Given the description of an element on the screen output the (x, y) to click on. 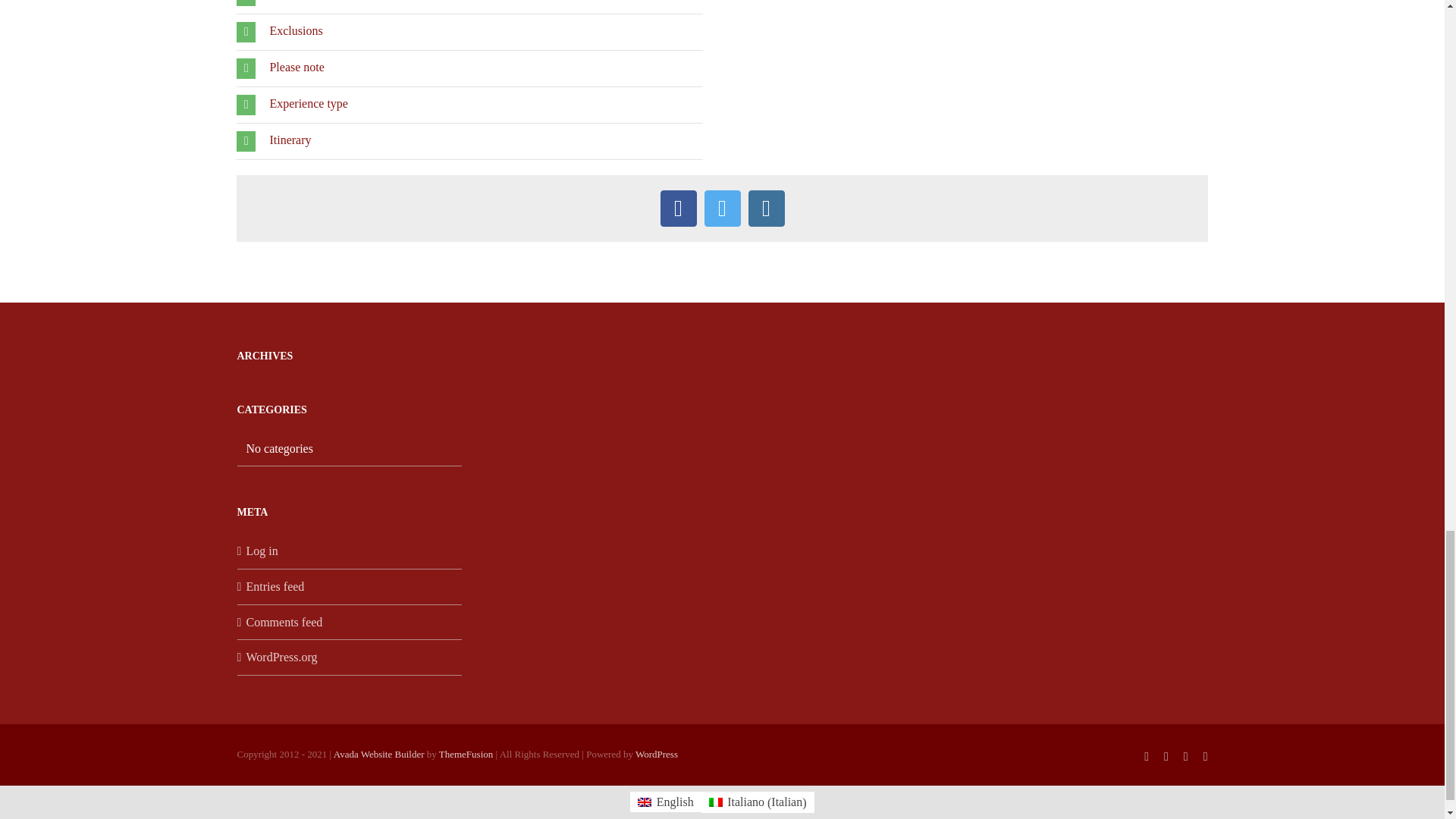
Experience type (469, 104)
WordPress.org (349, 657)
Facebook (677, 208)
Exclusions (469, 31)
Log in (349, 551)
Twitter (721, 208)
Please note (469, 68)
Comments feed (349, 622)
Entries feed (349, 587)
ThemeFusion (466, 754)
